Given the description of an element on the screen output the (x, y) to click on. 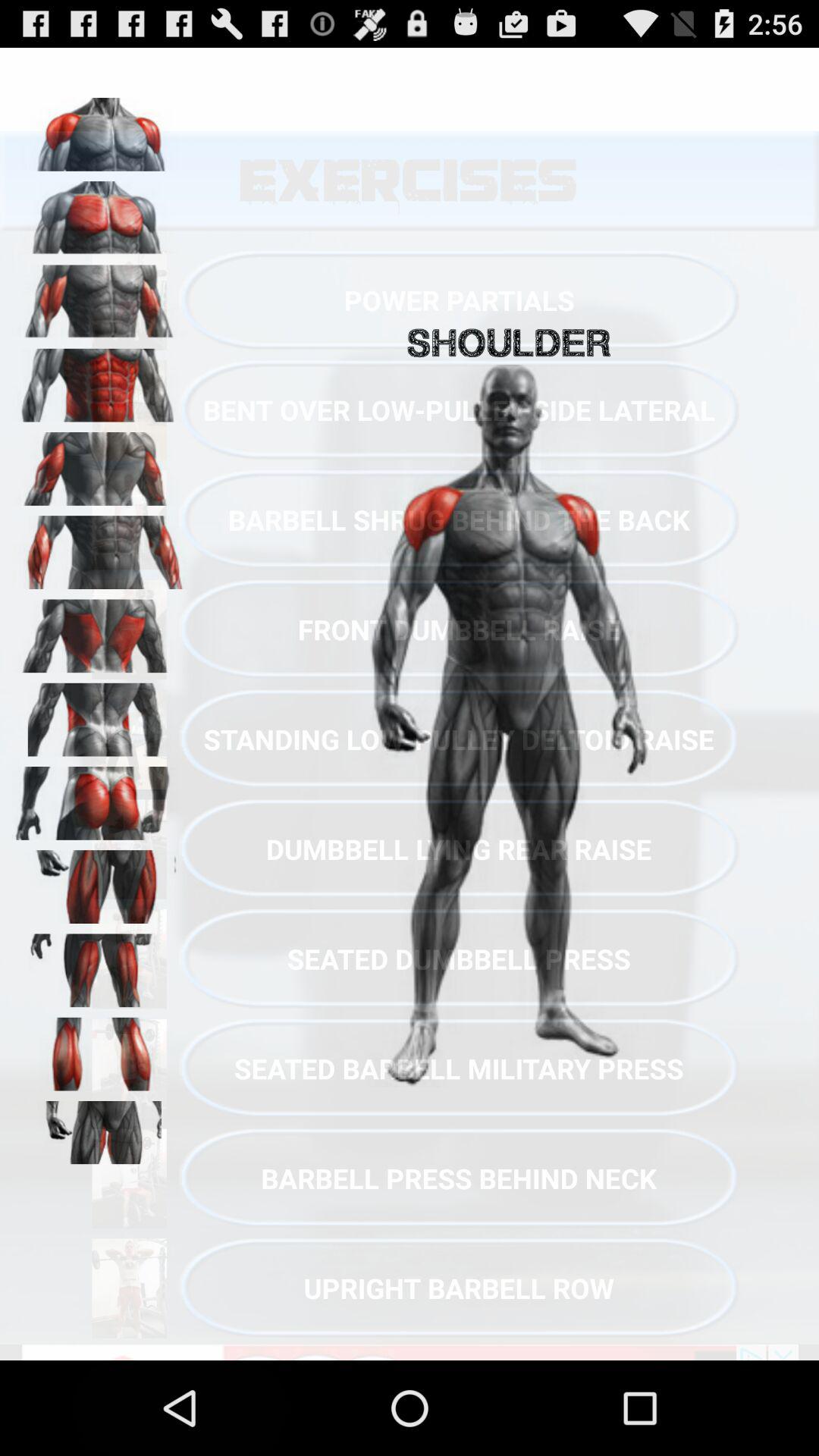
choose exercises targeting butt (99, 798)
